Given the description of an element on the screen output the (x, y) to click on. 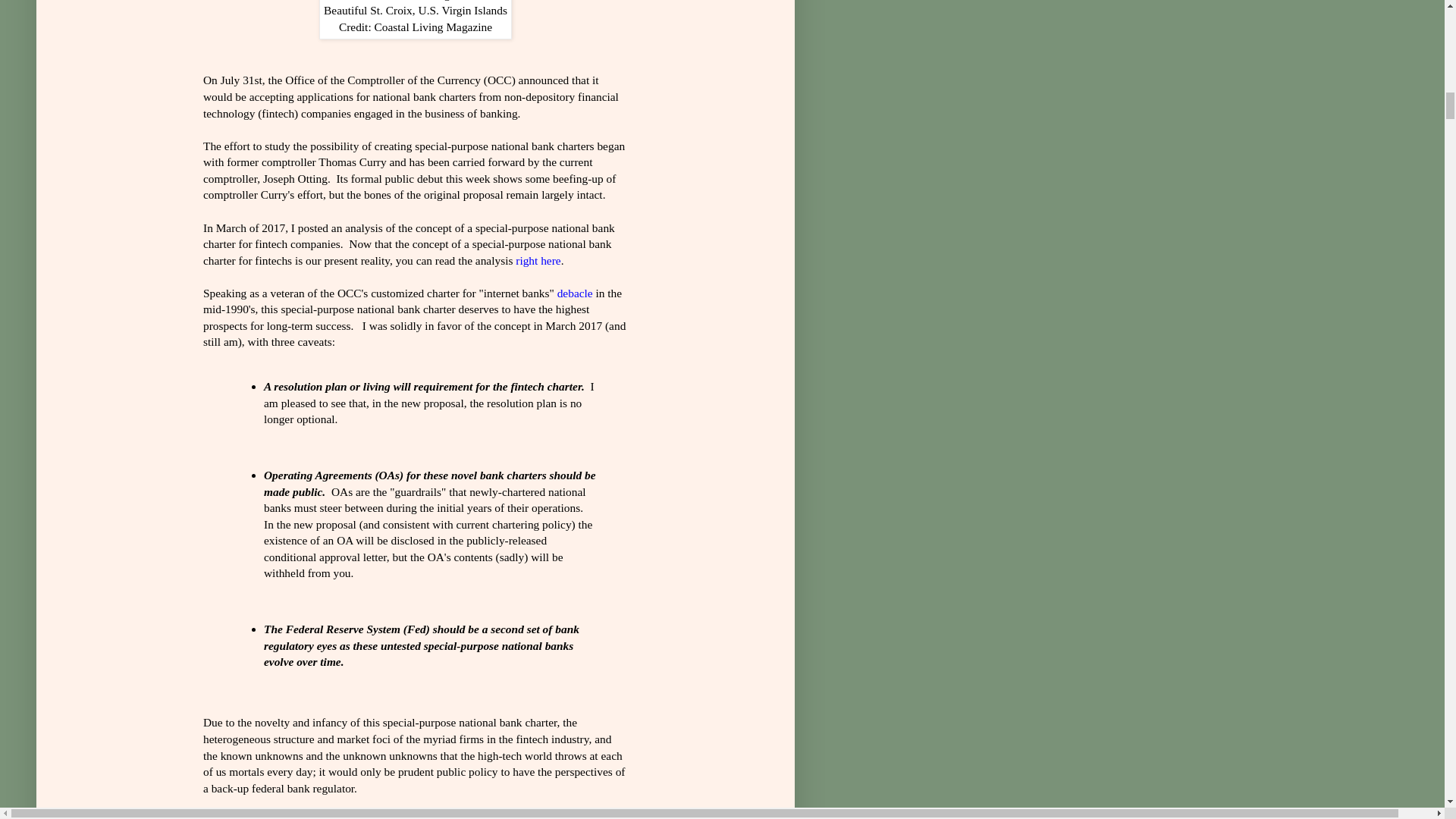
right here (537, 259)
debacle (574, 292)
